Given the description of an element on the screen output the (x, y) to click on. 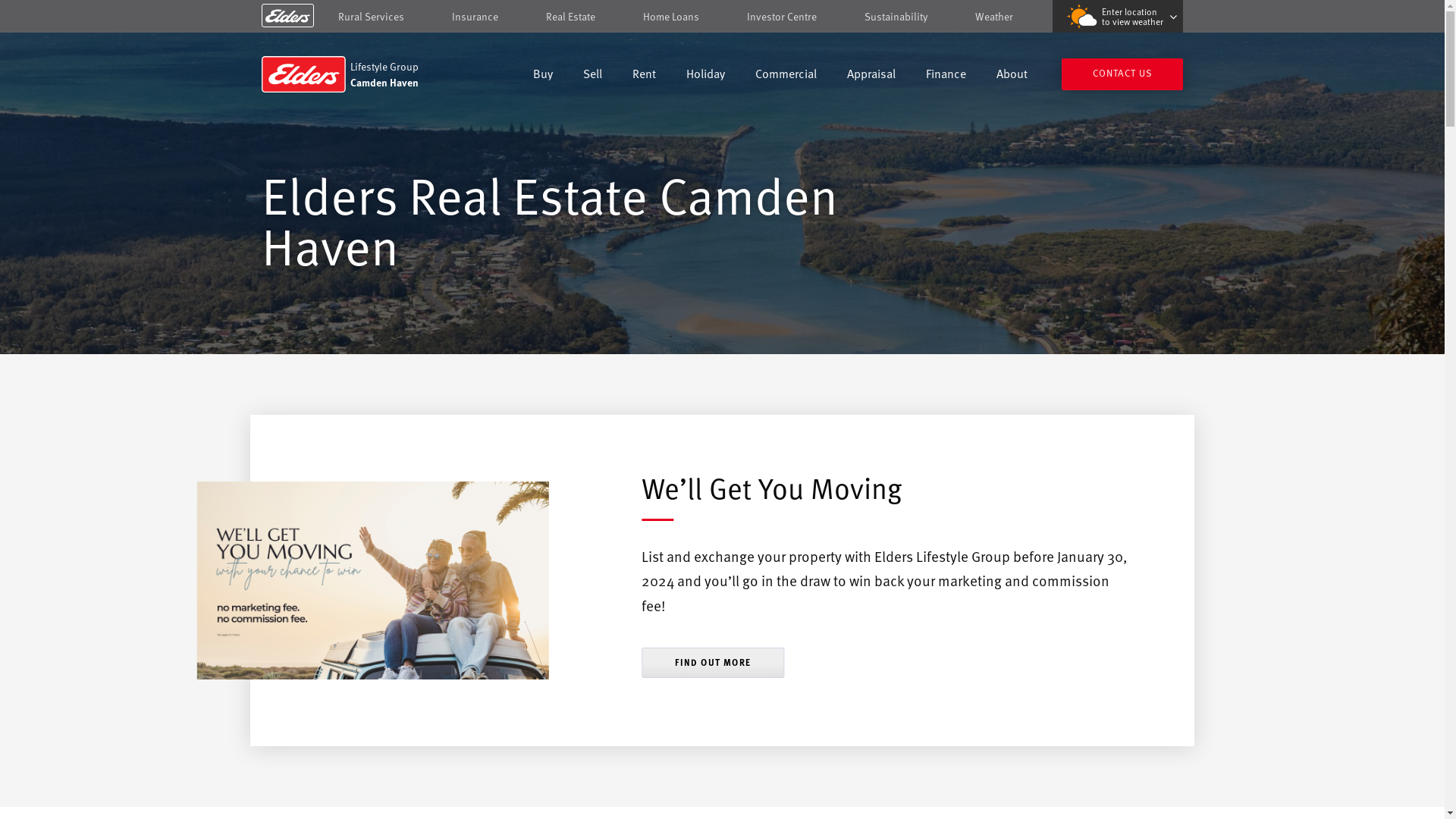
Sell Element type: text (592, 75)
CONTACT US Element type: text (1122, 74)
Buy Element type: text (542, 75)
Investor Centre Element type: text (781, 16)
Rent Element type: text (643, 75)
Appraisal Element type: text (871, 75)
Insurance Element type: text (474, 16)
Weather Element type: text (994, 16)
Commercial Element type: text (785, 75)
About Element type: text (1011, 75)
Lifestyle Group Camden Haven Element type: text (369, 74)
Home Loans Element type: text (671, 16)
Holiday Element type: text (705, 75)
Skip to content Element type: text (722, 17)
Finance Element type: text (945, 75)
Sustainability Element type: text (895, 16)
Real Estate Element type: text (570, 16)
FIND OUT MORE Element type: text (712, 662)
Rural Services Element type: text (371, 16)
Enter location to view weather Element type: text (1117, 16)
